Given the description of an element on the screen output the (x, y) to click on. 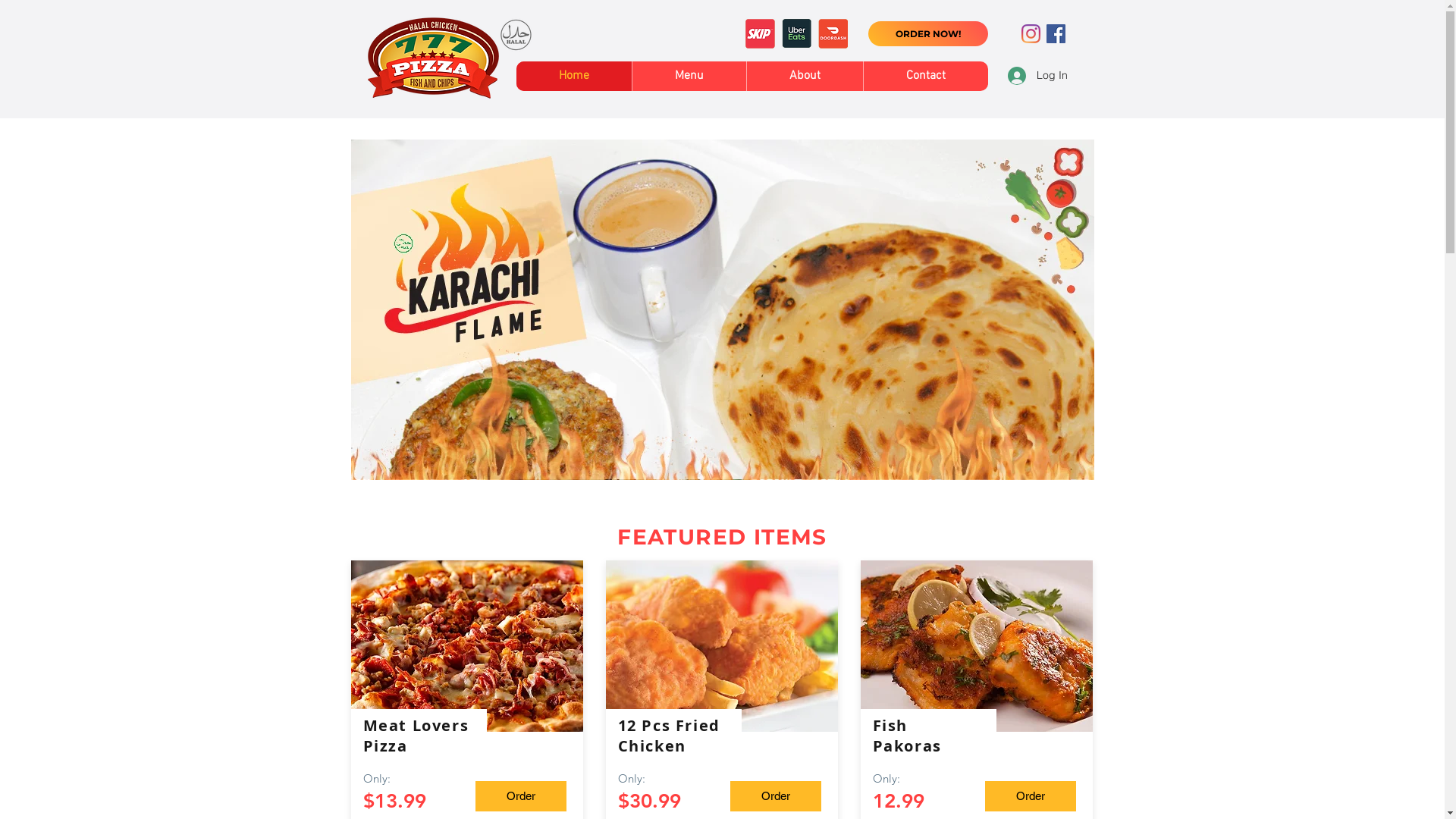
Order Element type: text (774, 796)
Menu Element type: text (687, 76)
Order Element type: text (519, 796)
Contact Element type: text (925, 76)
ORDER NOW! Element type: text (927, 33)
About Element type: text (804, 76)
Log In Element type: text (1035, 75)
Home Element type: text (572, 76)
Order Element type: text (1029, 796)
